Given the description of an element on the screen output the (x, y) to click on. 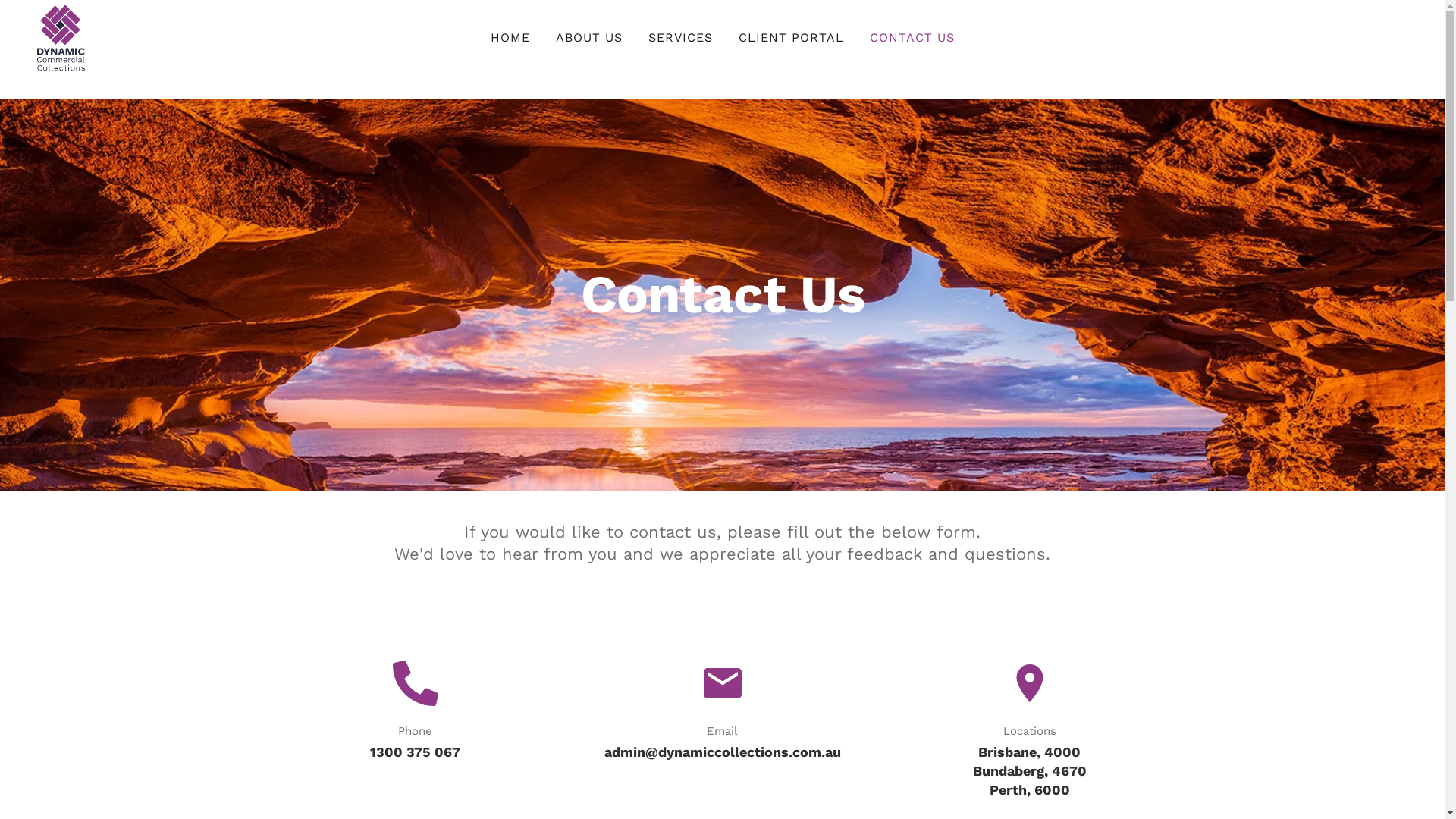
CONTACT US Element type: text (911, 37)
SERVICES Element type: text (680, 37)
CLIENT PORTAL Element type: text (790, 37)
1300 375 067 Element type: text (415, 751)
admin@dynamiccollections.com.au Element type: text (721, 751)
ABOUT US Element type: text (588, 37)
HOME Element type: text (509, 37)
